Given the description of an element on the screen output the (x, y) to click on. 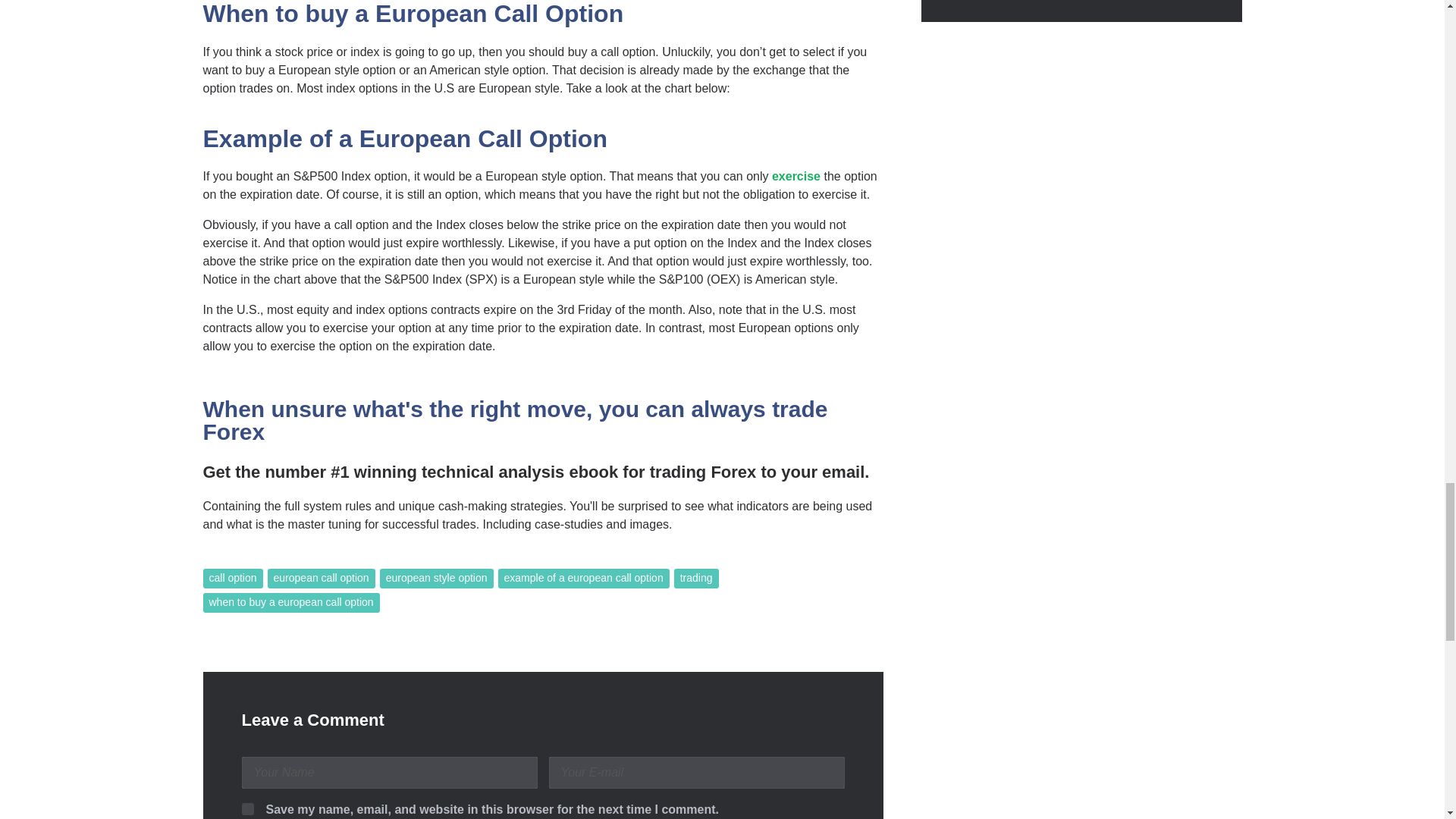
example of a european call option (583, 578)
european style option (436, 578)
exercise (796, 175)
trading (696, 578)
when to buy a european call option (291, 602)
call option (233, 578)
european call option (321, 578)
